Given the description of an element on the screen output the (x, y) to click on. 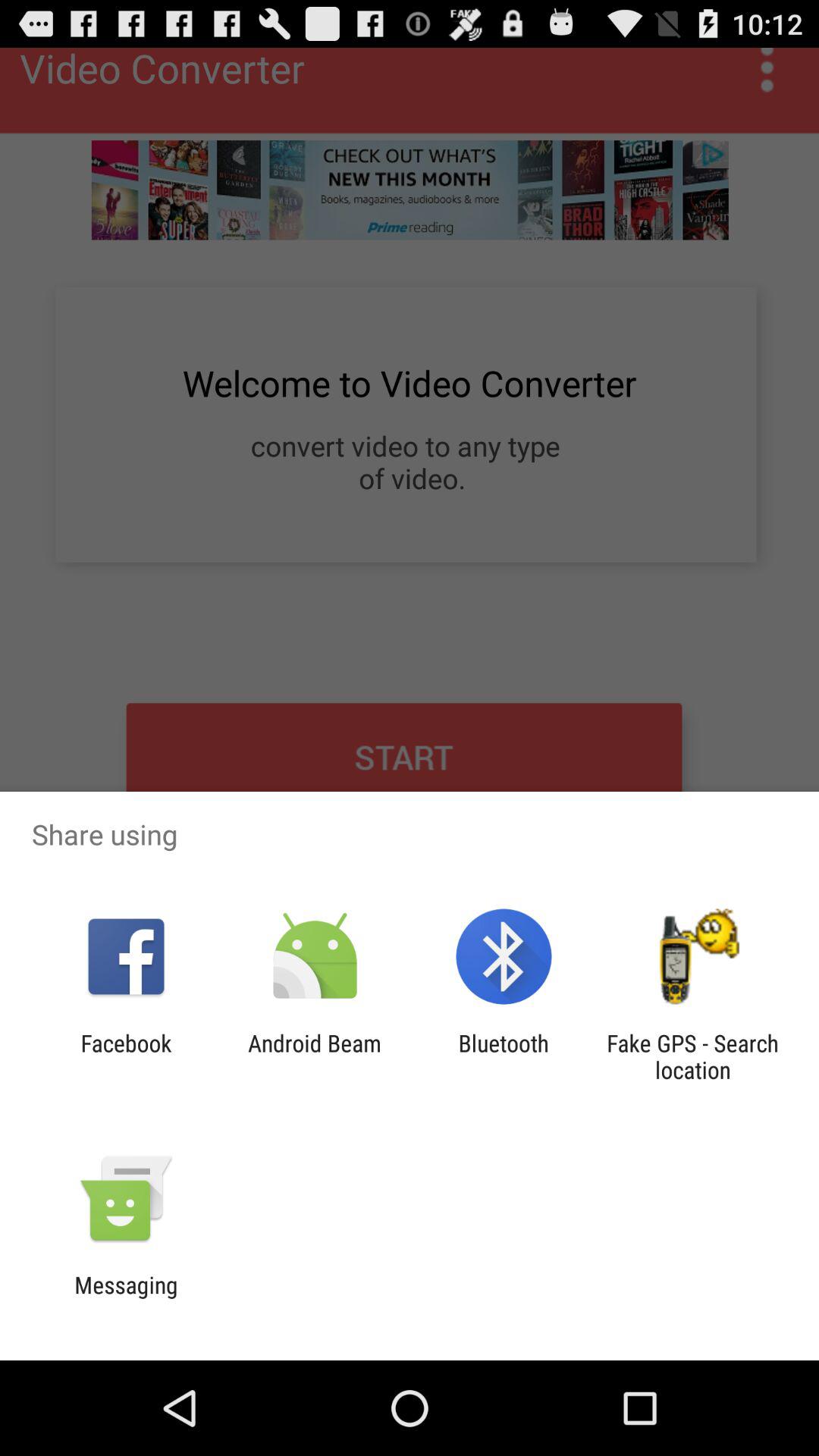
turn on the app next to android beam (125, 1056)
